Given the description of an element on the screen output the (x, y) to click on. 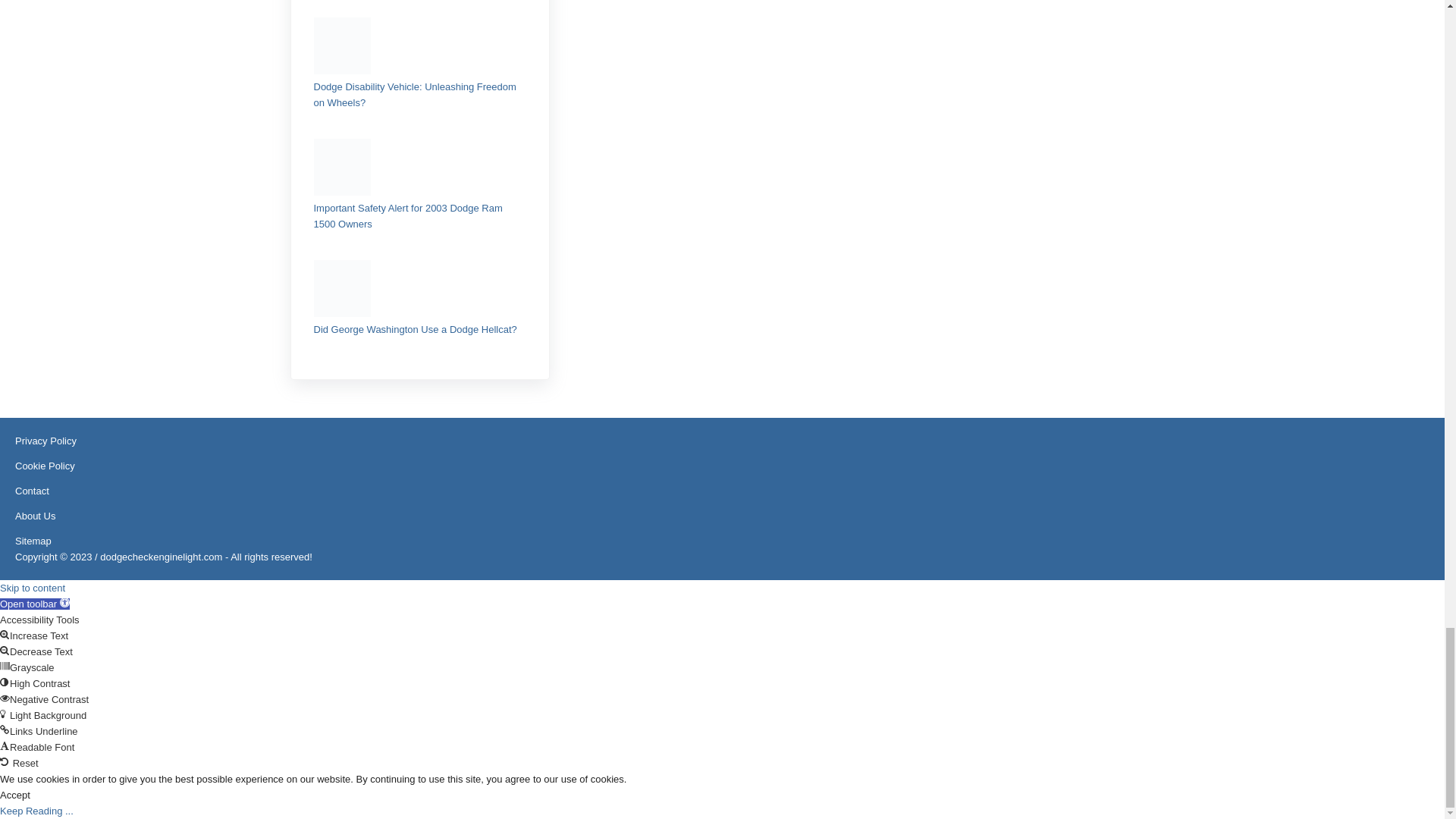
Contact (31, 490)
Open toolbar Accessibility Tools (34, 603)
Sitemap (32, 541)
Did George Washington Use a Dodge Hellcat? 8 (342, 288)
About Us (34, 515)
Privacy Policy (45, 440)
Decrease Text (5, 650)
Negative Contrast (5, 697)
Dodge Disability Vehicle: Unleashing Freedom on Wheels? (415, 94)
Important Safety Alert for 2003 Dodge Ram 1500 Owners (408, 216)
Accessibility Tools (64, 602)
High Contrast (5, 682)
Grayscale (5, 665)
Accessibility Tools (34, 603)
Skip to content (32, 587)
